Given the description of an element on the screen output the (x, y) to click on. 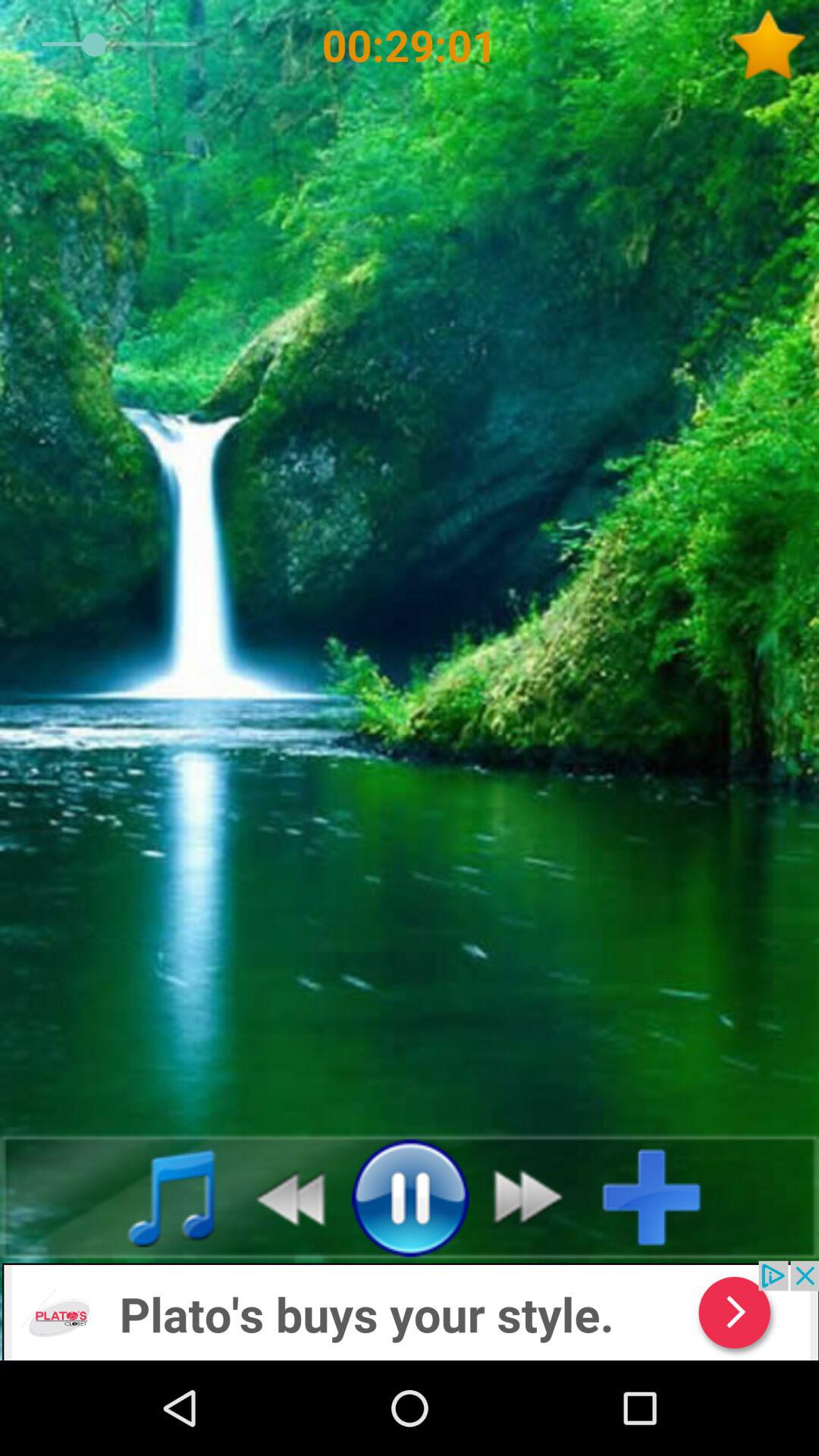
switch to move forward (536, 1196)
